Given the description of an element on the screen output the (x, y) to click on. 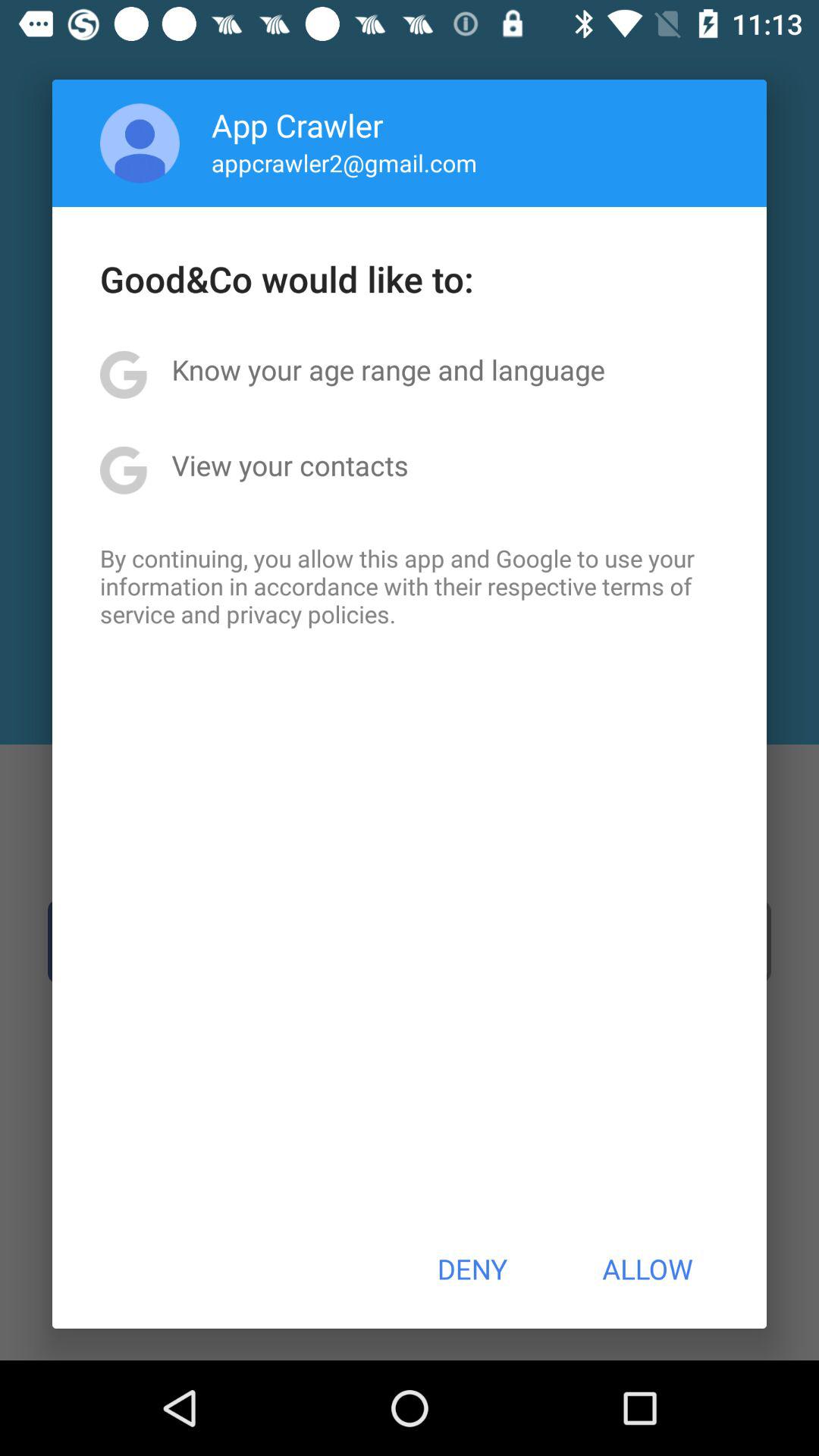
turn on the item next to the allow item (471, 1268)
